Given the description of an element on the screen output the (x, y) to click on. 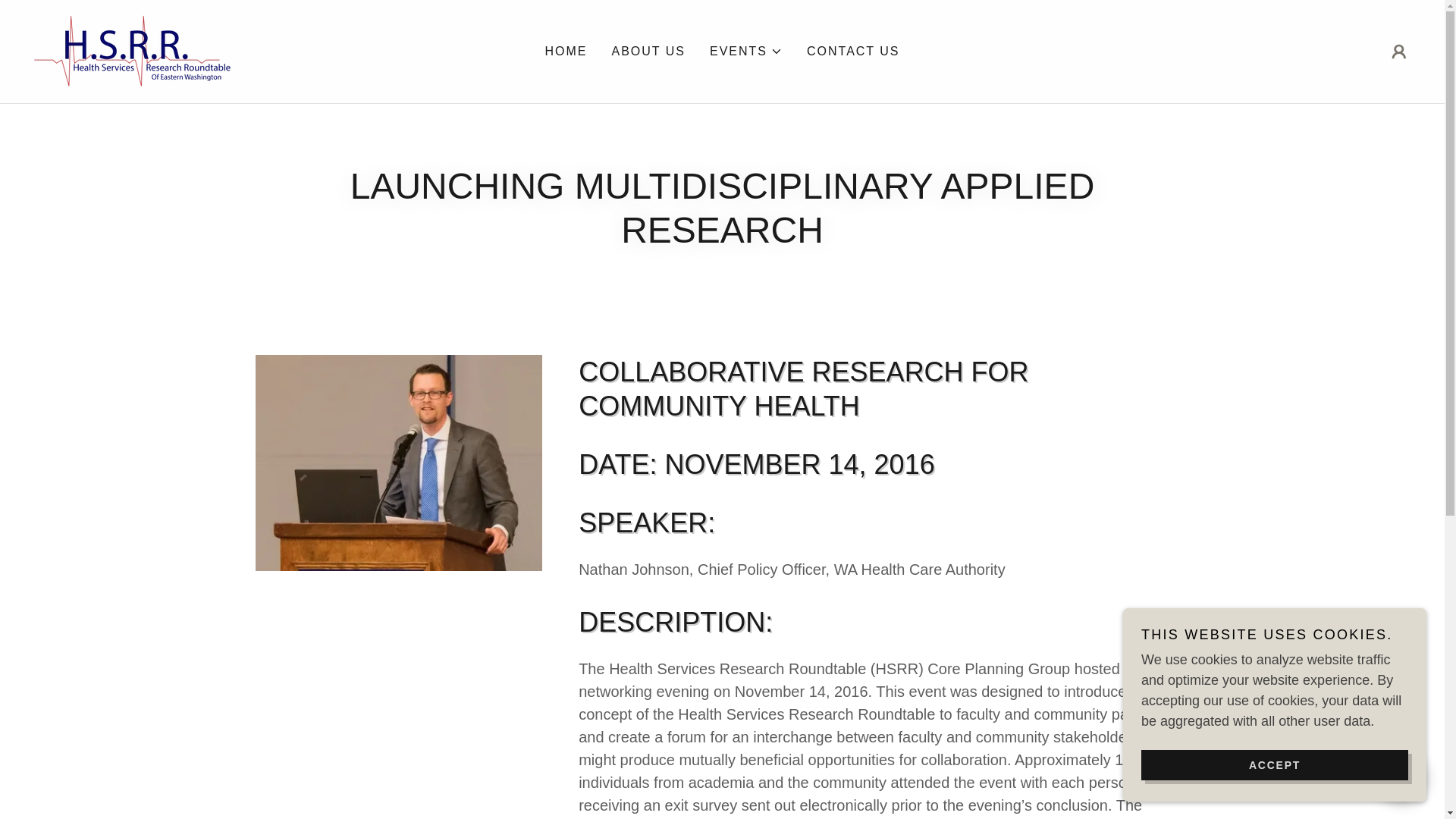
CONTACT US (853, 51)
Health Services Research Roundtable (134, 50)
HOME (565, 51)
ABOUT US (648, 51)
EVENTS (746, 51)
